Given the description of an element on the screen output the (x, y) to click on. 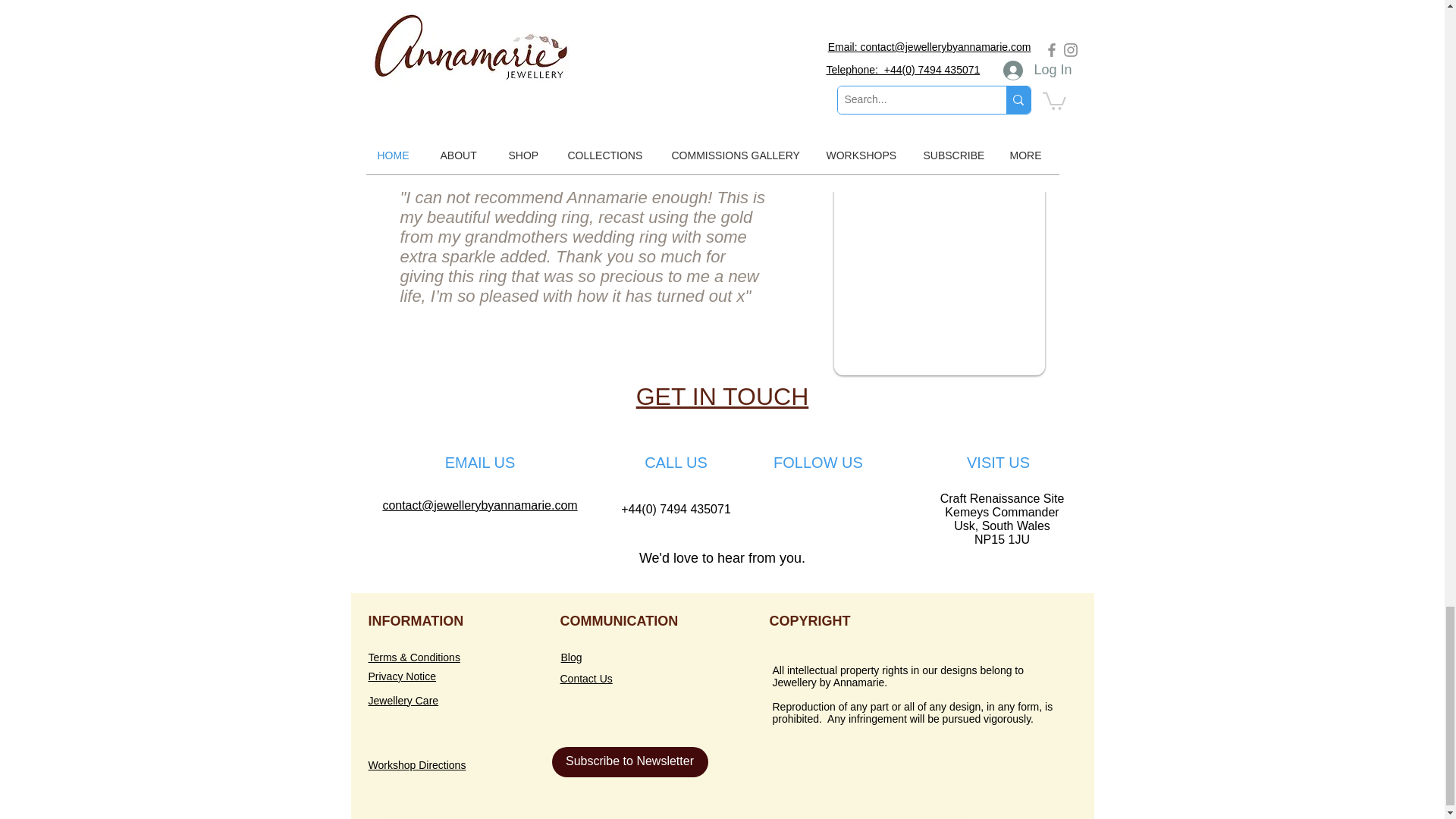
Wedding Ring commission by Jewellery by Annamarie (939, 273)
